Given the description of an element on the screen output the (x, y) to click on. 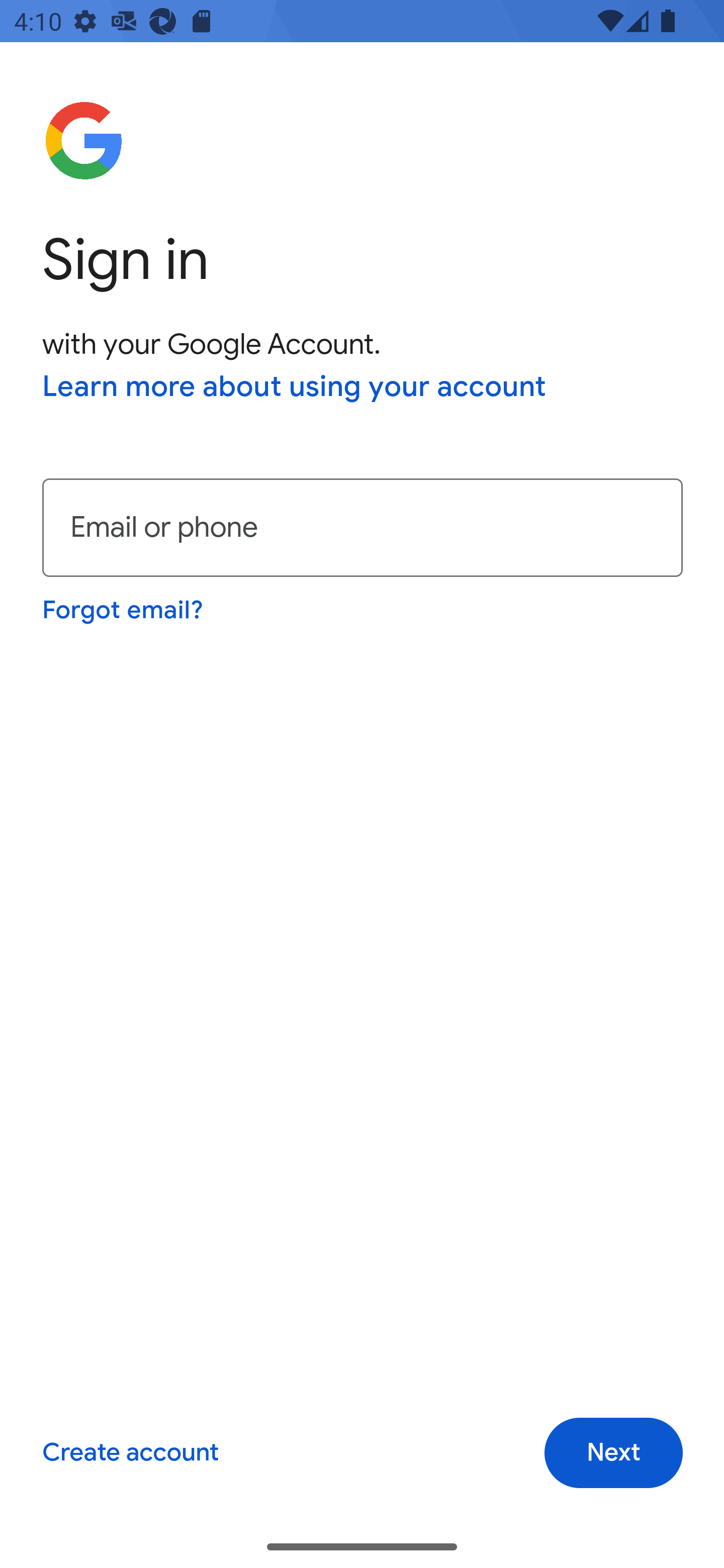
Learn more about using your account (294, 388)
Forgot email? (123, 609)
Next (613, 1453)
Create account (129, 1453)
